Given the description of an element on the screen output the (x, y) to click on. 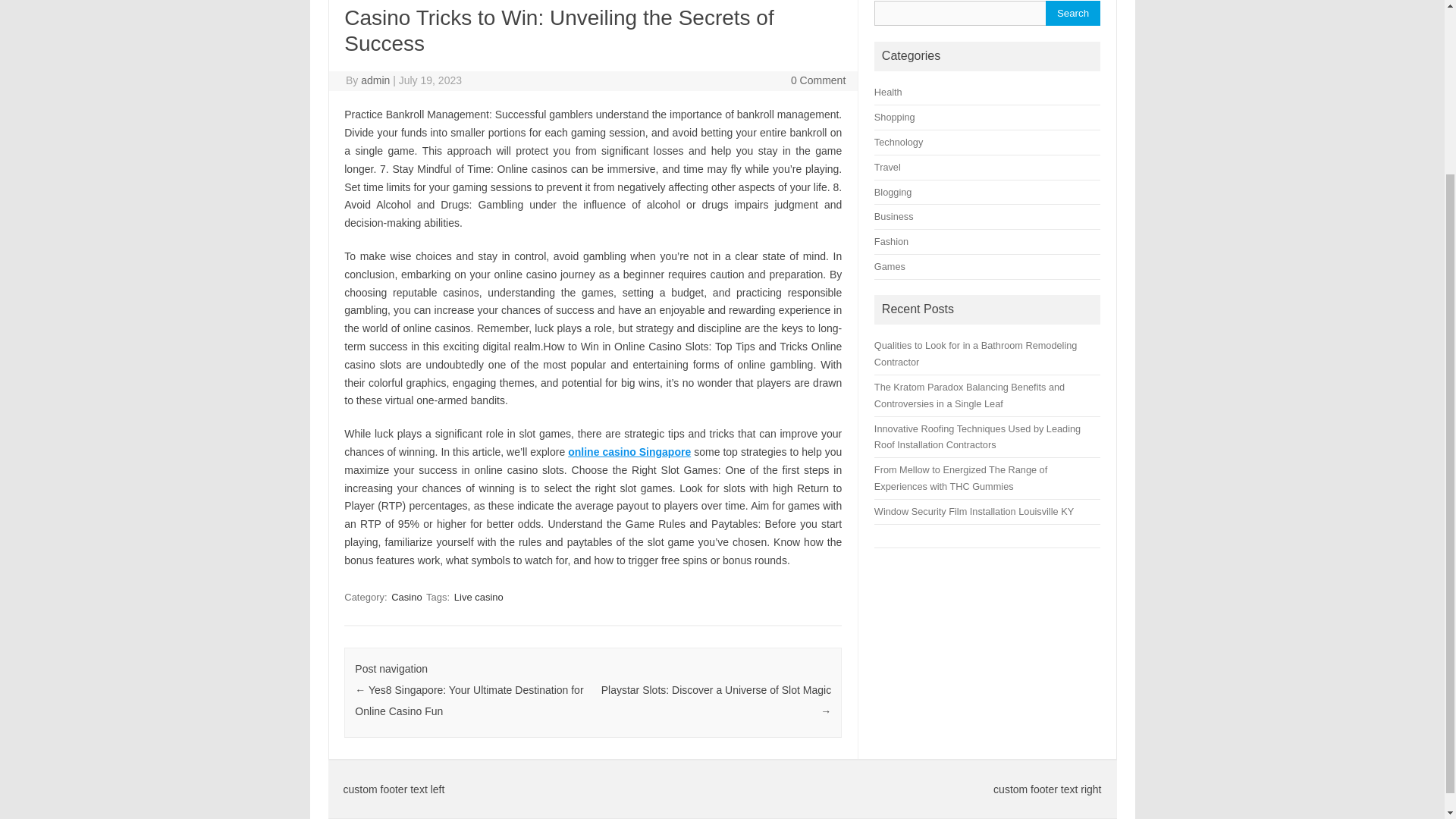
Health (888, 91)
Games (890, 266)
Fashion (891, 241)
Search (1072, 12)
Technology (899, 142)
0 Comment (817, 80)
Business (894, 215)
Casino (406, 596)
admin (375, 80)
